Given the description of an element on the screen output the (x, y) to click on. 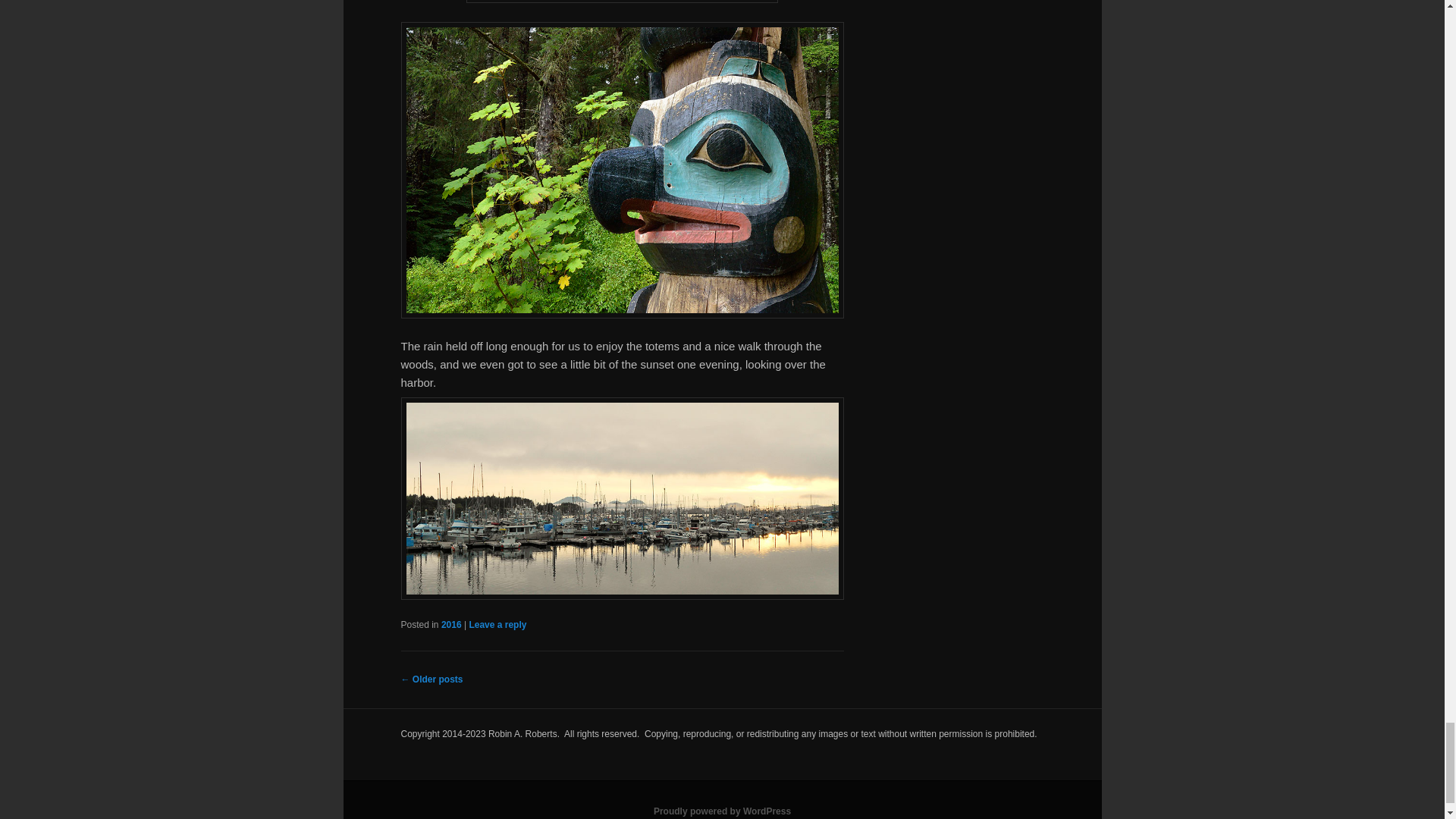
2016 (451, 624)
Leave a reply (496, 624)
Semantic Personal Publishing Platform (721, 810)
